Given the description of an element on the screen output the (x, y) to click on. 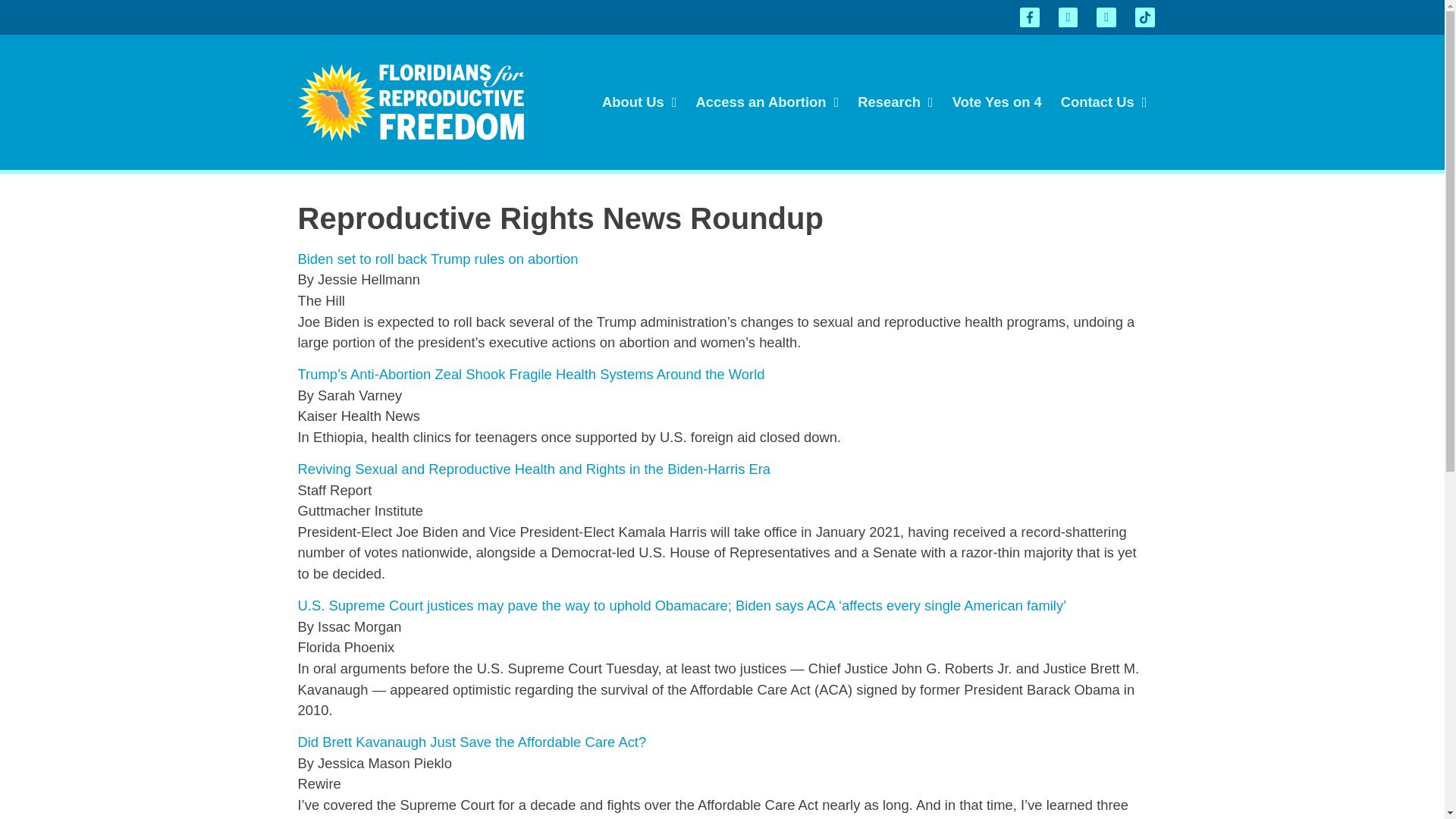
Research (895, 102)
Contact Us (1104, 102)
Vote Yes on 4 (997, 102)
Access an Abortion (767, 102)
About Us (639, 102)
